Given the description of an element on the screen output the (x, y) to click on. 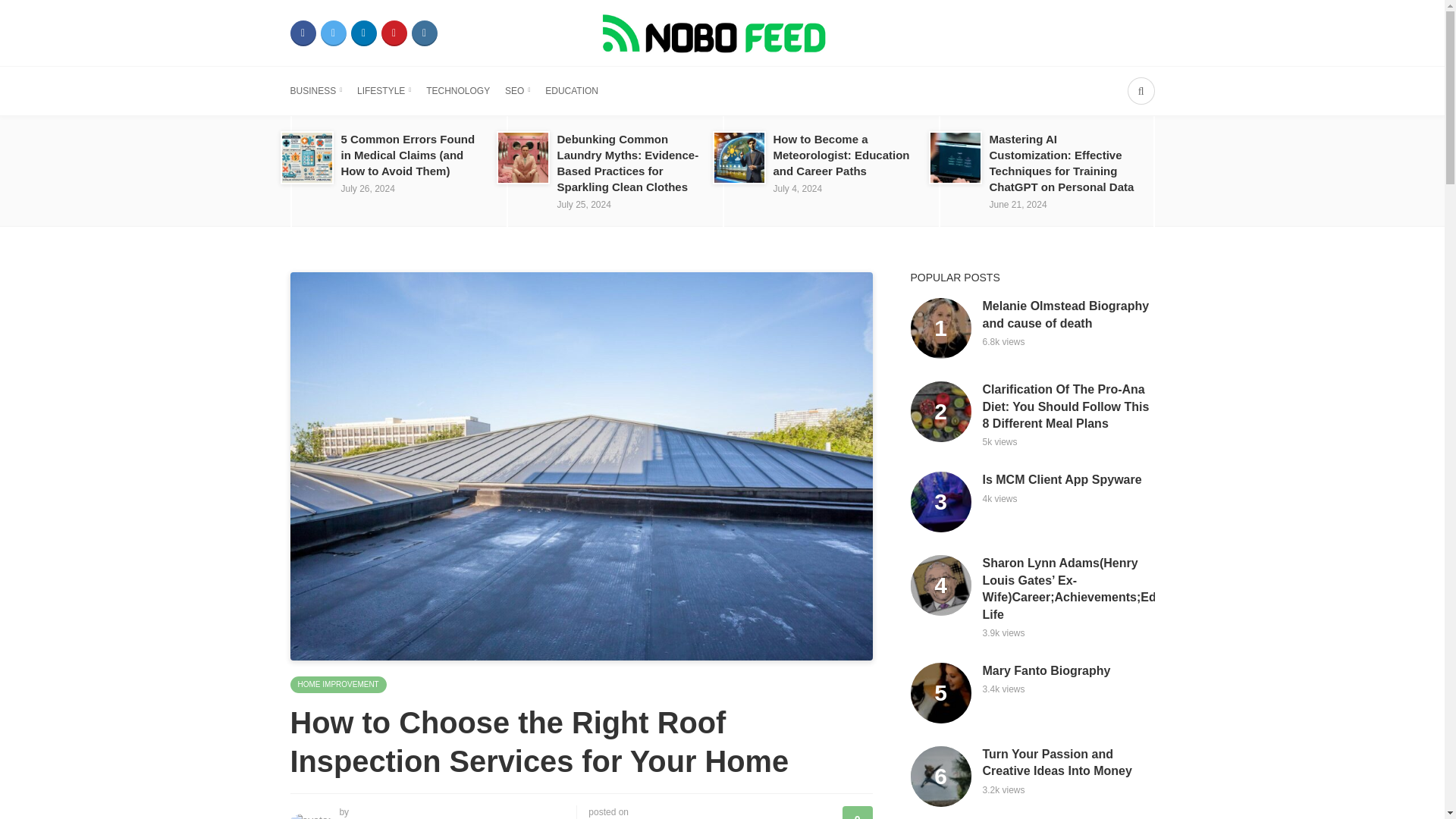
LIFESTYLE (383, 90)
July 26, 2024 (367, 188)
Linkedin (362, 32)
facebook (302, 32)
Instagram (423, 32)
July 4, 2024 (797, 188)
twitter (333, 32)
July 25, 2024 (583, 204)
June 21, 2024 (1017, 204)
EDUCATION (571, 90)
View all posts in Home Improvement (337, 684)
Pinterest (393, 32)
TECHNOLOGY (457, 90)
Nobofeed (721, 32)
